Given the description of an element on the screen output the (x, y) to click on. 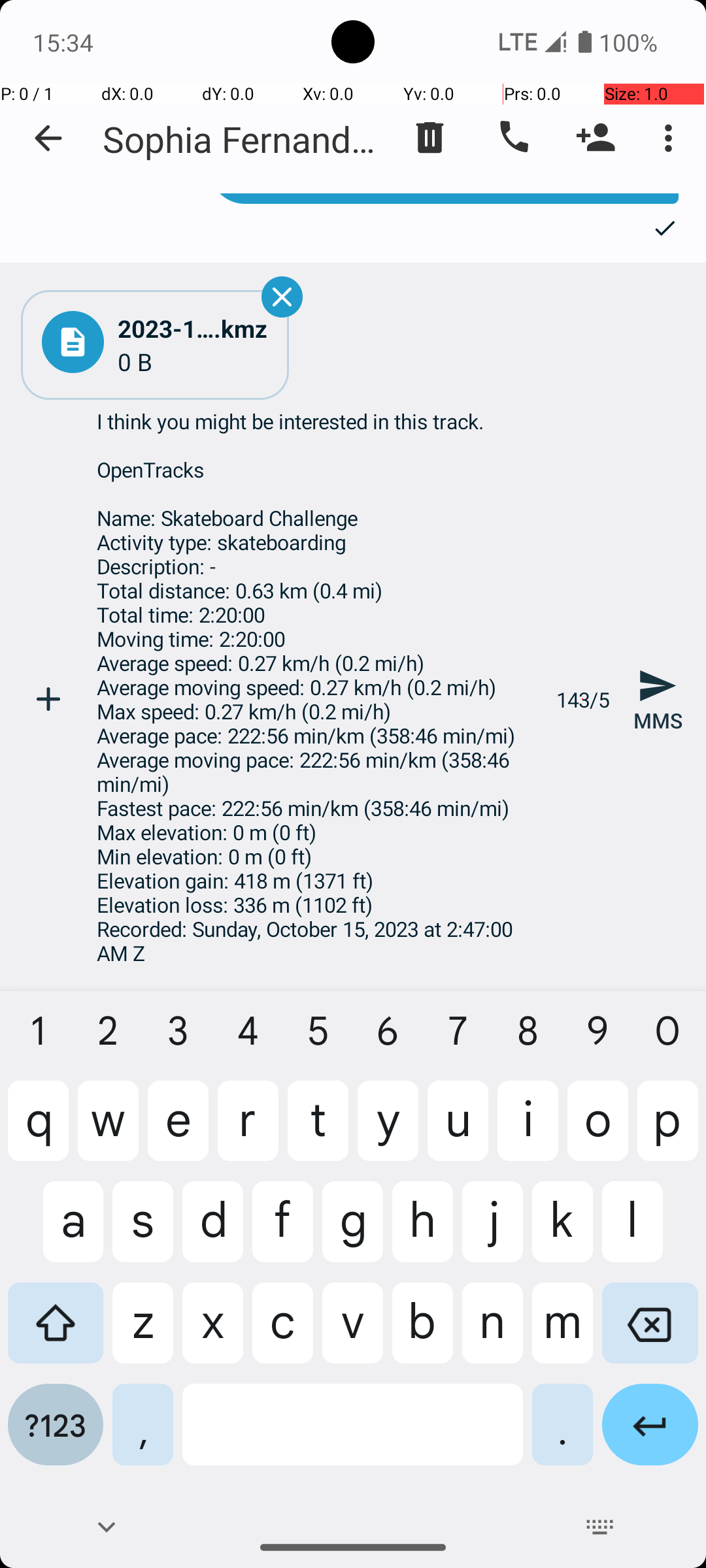
Sophia Fernandez Element type: android.widget.TextView (241, 138)
I think you might be interested in this track.

OpenTracks

Name: Skateboard Challenge
Activity type: skateboarding
Description: -
Total distance: 0.63 km (0.4 mi)
Total time: 2:20:00
Moving time: 2:20:00
Average speed: 0.27 km/h (0.2 mi/h)
Average moving speed: 0.27 km/h (0.2 mi/h)
Max speed: 0.27 km/h (0.2 mi/h)
Average pace: 222:56 min/km (358:46 min/mi)
Average moving pace: 222:56 min/km (358:46 min/mi)
Fastest pace: 222:56 min/km (358:46 min/mi)
Max elevation: 0 m (0 ft)
Min elevation: 0 m (0 ft)
Elevation gain: 418 m (1371 ft)
Elevation loss: 336 m (1102 ft)
Recorded: Sunday, October 15, 2023 at 2:47:00 AM Z
 Element type: android.widget.EditText (318, 699)
143/5 Element type: android.widget.TextView (582, 699)
MMS Element type: android.widget.Button (657, 698)
Looking forward to our next book club meeting! Element type: android.widget.TextView (443, 198)
2023-10-15_02_47_Skateboard Challenge.kmz Element type: android.widget.TextView (192, 327)
